Given the description of an element on the screen output the (x, y) to click on. 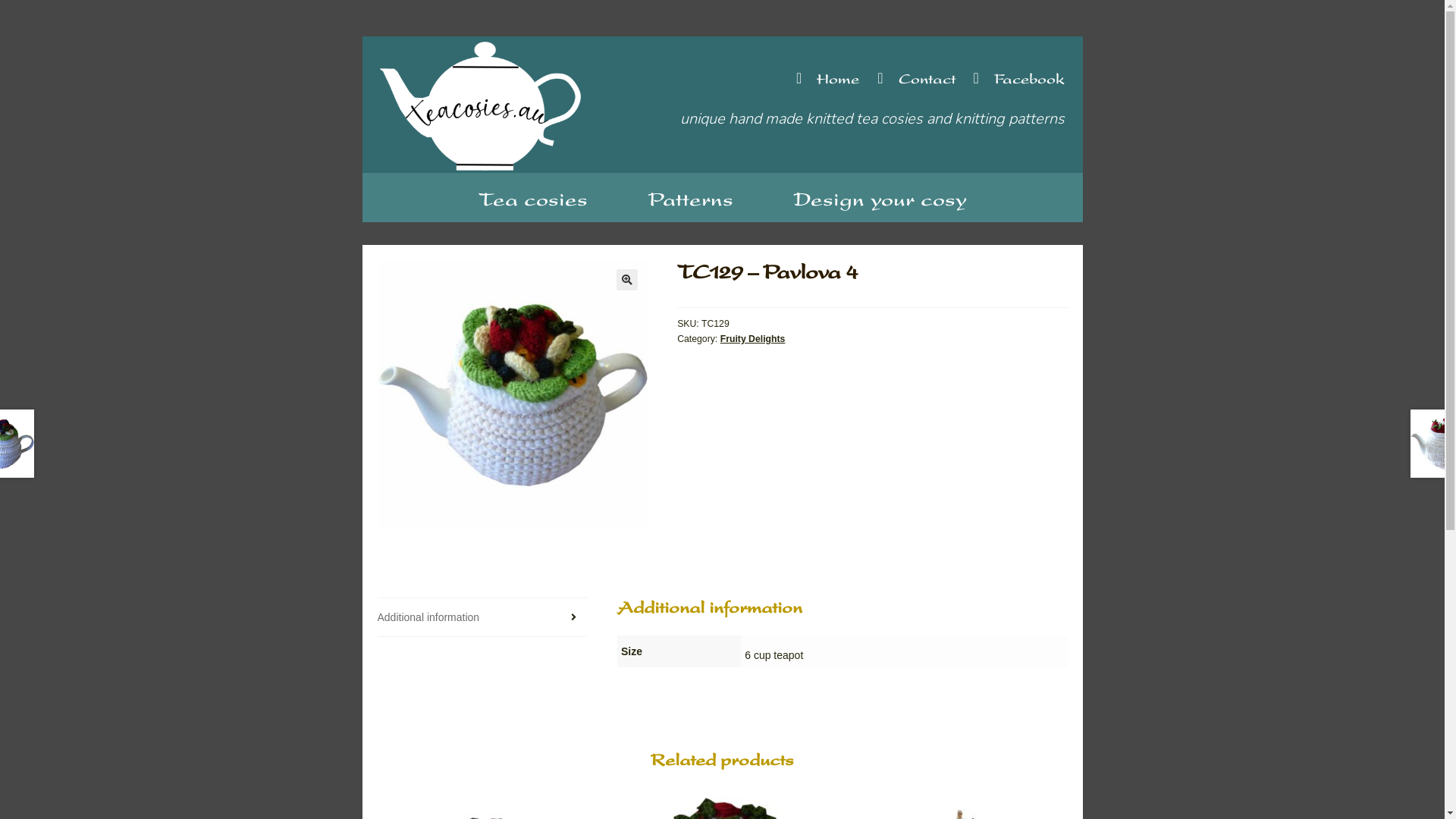
tc129pavlova4 Element type: hover (512, 395)
Facebook Element type: text (1010, 78)
Contact Element type: text (908, 78)
Design your cosy Element type: text (879, 197)
Tea cosies Element type: text (532, 197)
Additional information Element type: text (482, 617)
Fruity Delights Element type: text (752, 338)
Patterns Element type: text (689, 197)
Home Element type: text (820, 78)
